Given the description of an element on the screen output the (x, y) to click on. 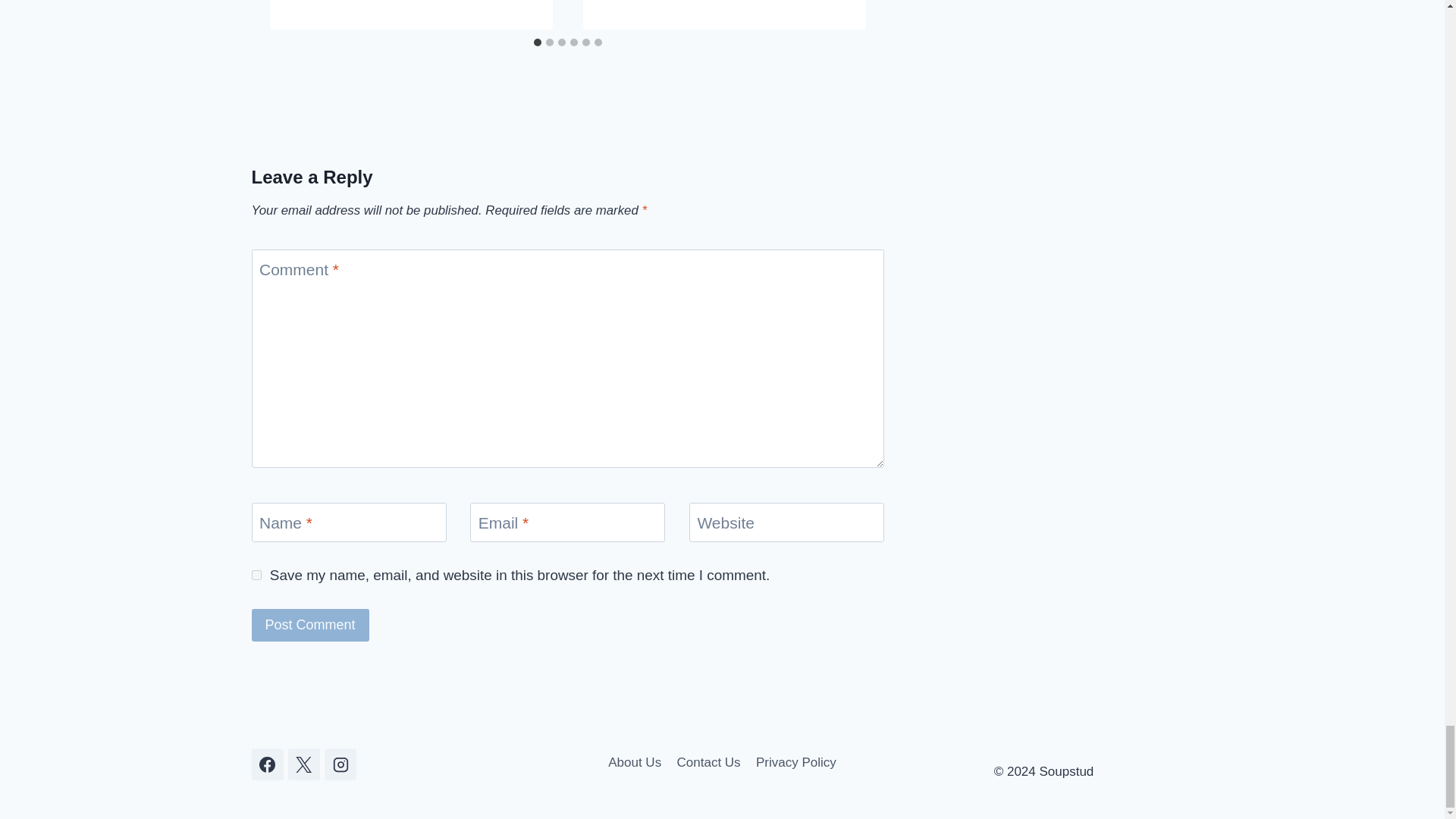
Post Comment (310, 625)
yes (256, 574)
